Given the description of an element on the screen output the (x, y) to click on. 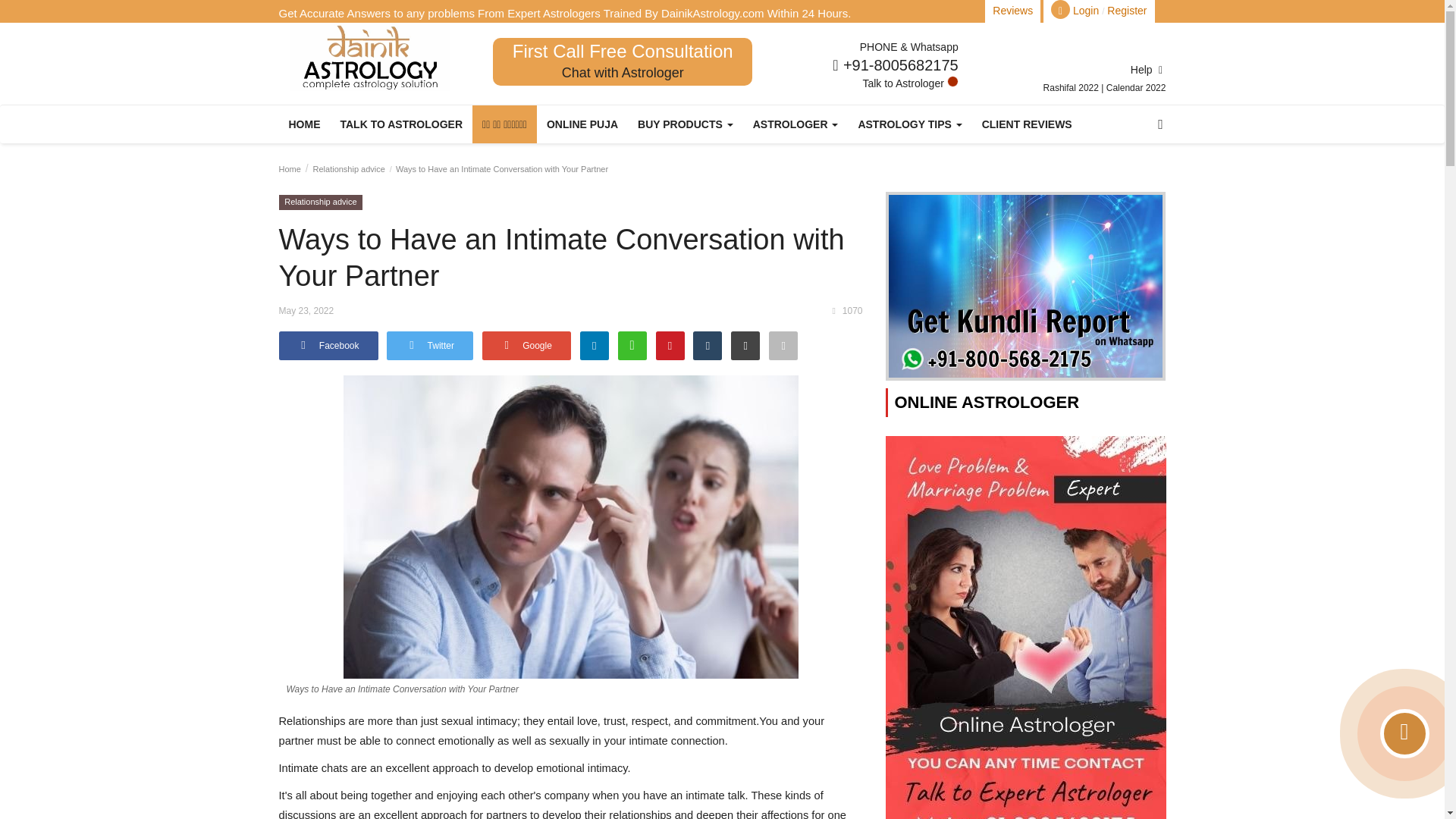
Login (1086, 11)
Calendar 2022 (1136, 87)
ASTROLOGY TIPS (909, 124)
HOME (304, 124)
ASTROLOGER (795, 124)
Chat with Astrologer (623, 72)
TALK TO ASTROLOGER (401, 124)
Reviews (1012, 11)
Register (1126, 11)
Rashifal 2022 (1072, 87)
